Given the description of an element on the screen output the (x, y) to click on. 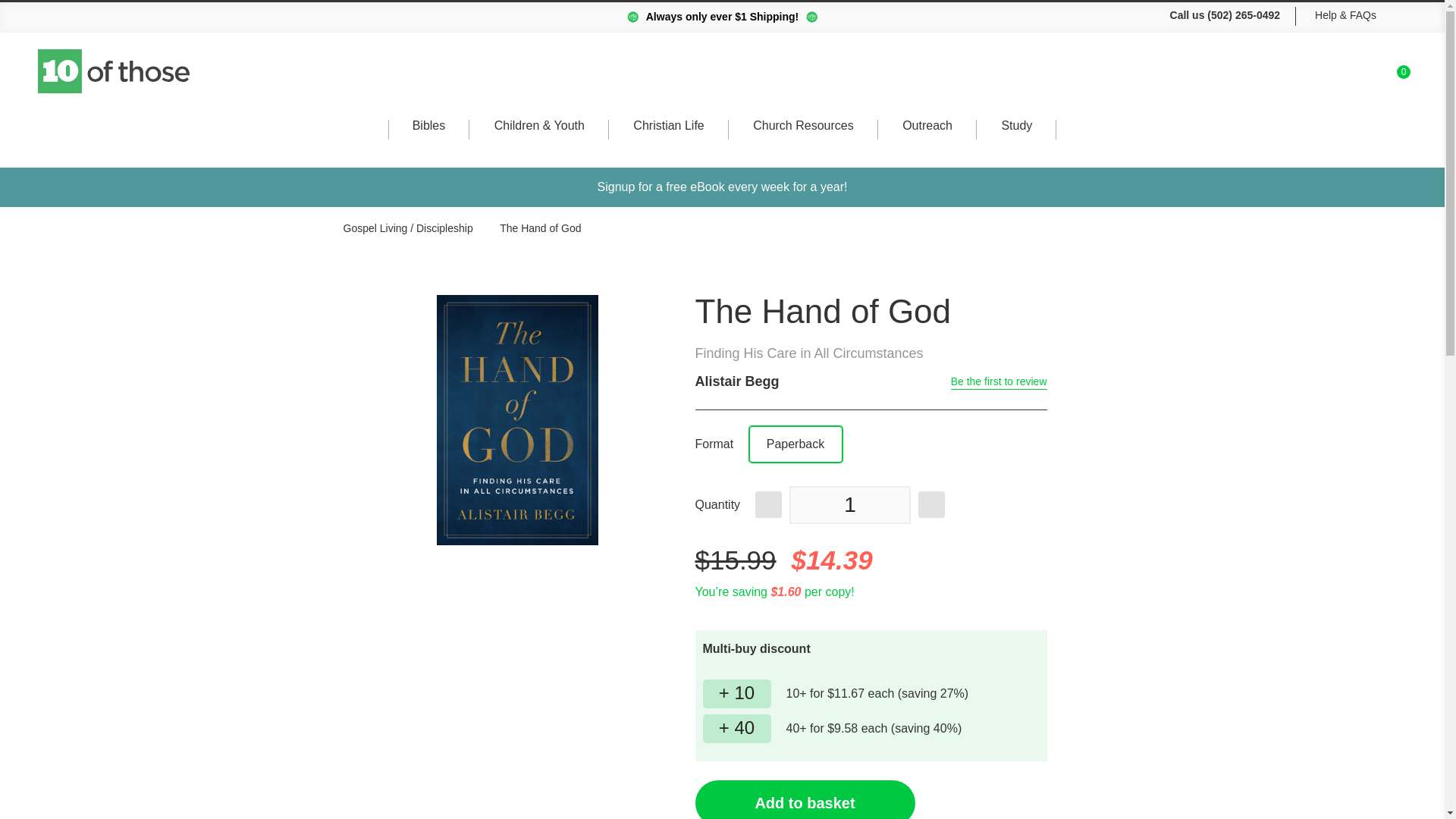
Account (1327, 78)
1 (850, 505)
Favourites (1397, 77)
10 of those (1361, 78)
